Given the description of an element on the screen output the (x, y) to click on. 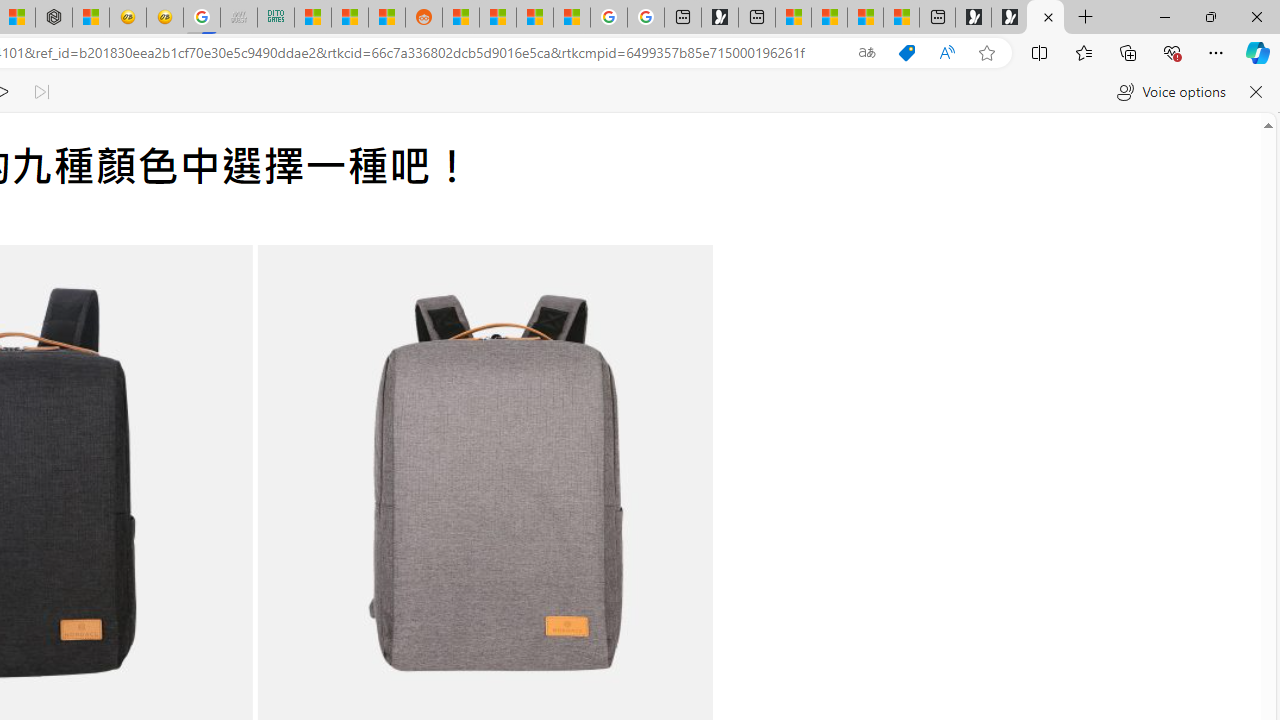
Class: flickity-button-icon (658, 502)
Show translate options (867, 53)
Voice options (1170, 92)
These 3 Stocks Pay You More Than 5% to Own Them (901, 17)
DITOGAMES AG Imprint (276, 17)
MSN (386, 17)
Nordace - #1 Japanese Best-Seller - Siena Smart Backpack (53, 17)
